Given the description of an element on the screen output the (x, y) to click on. 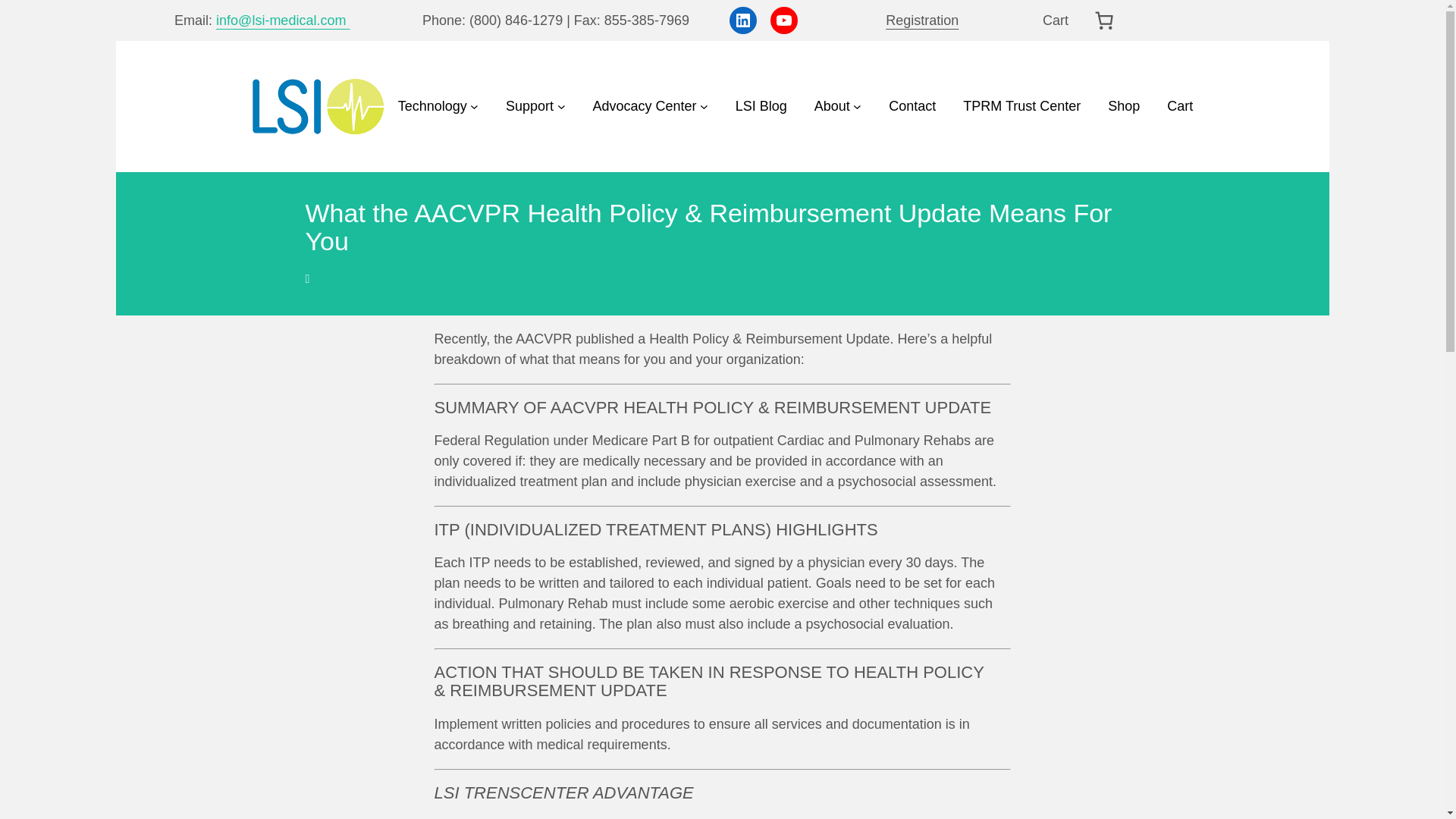
Shop (1124, 106)
Registration (921, 19)
Cart (1179, 106)
TPRM Trust Center (1021, 106)
YouTube (783, 20)
Advocacy Center (649, 106)
LinkedIn (743, 20)
LSI Blog (761, 106)
Support (534, 106)
Cart (1055, 19)
